Given the description of an element on the screen output the (x, y) to click on. 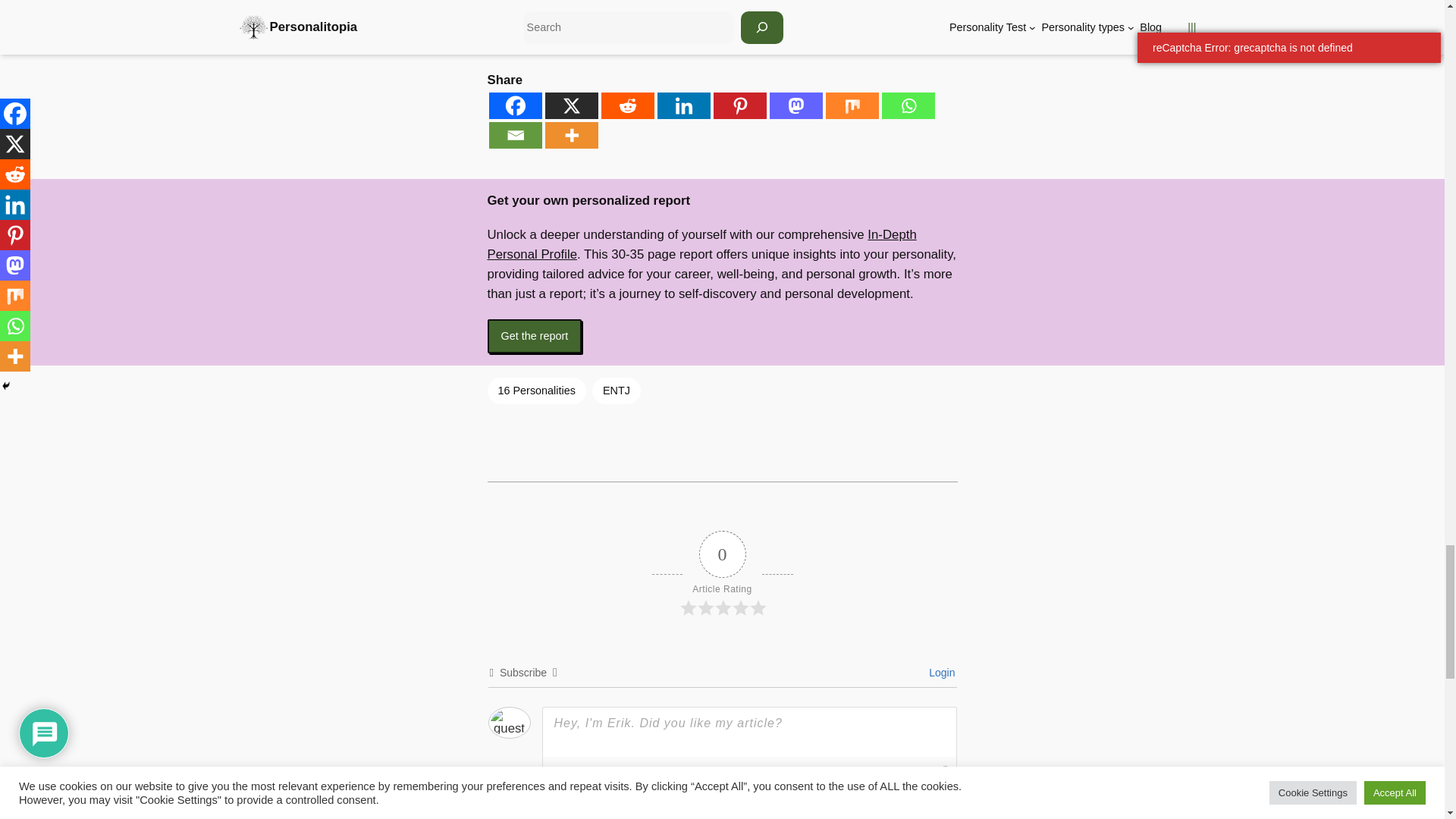
More (570, 135)
Mix (851, 105)
Mastodon (795, 105)
X (570, 105)
Reddit (626, 105)
Facebook (514, 105)
Whatsapp (907, 105)
Pinterest (739, 105)
Email (514, 135)
Linkedin (683, 105)
